Given the description of an element on the screen output the (x, y) to click on. 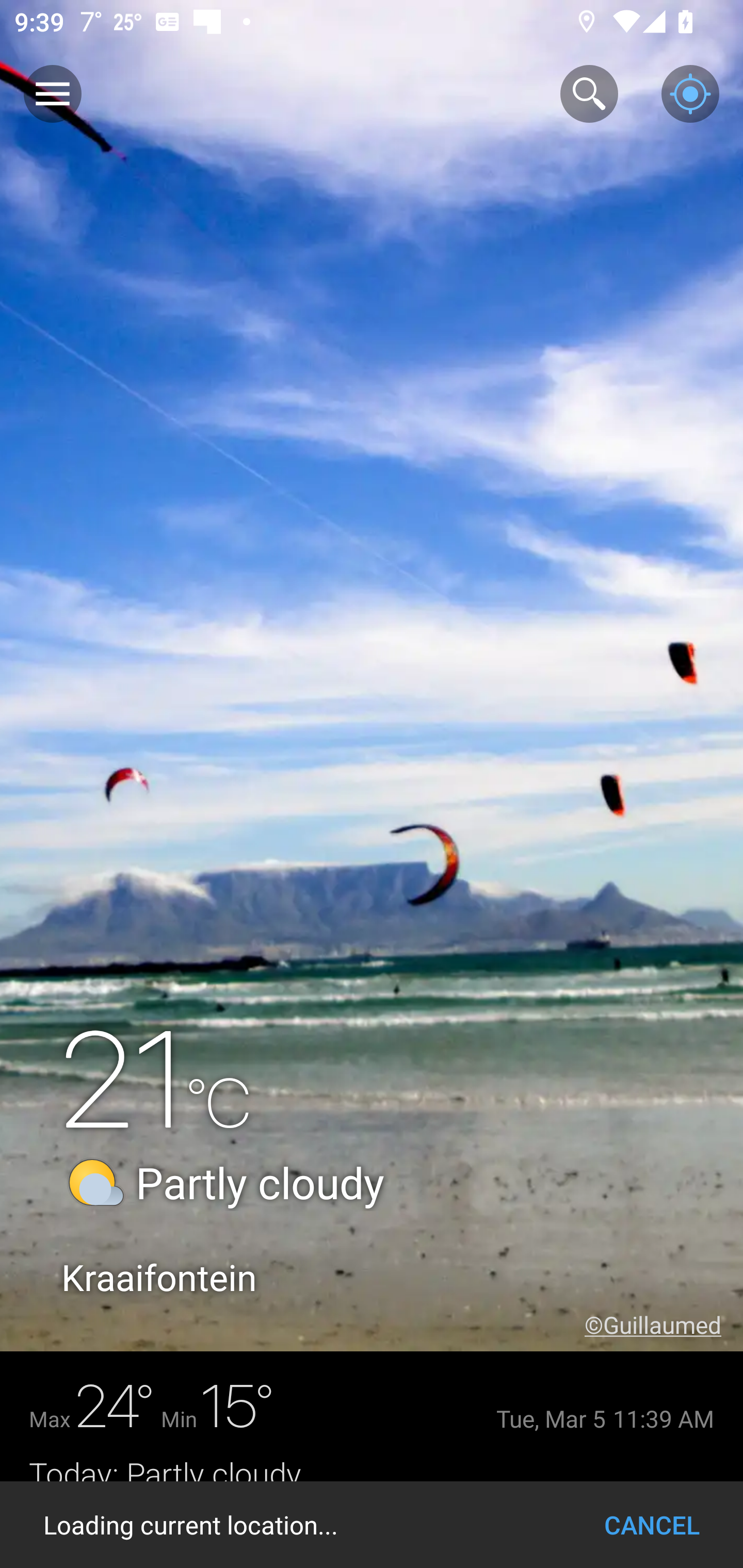
©Guillaumed (663, 1324)
CANCEL (651, 1524)
